Given the description of an element on the screen output the (x, y) to click on. 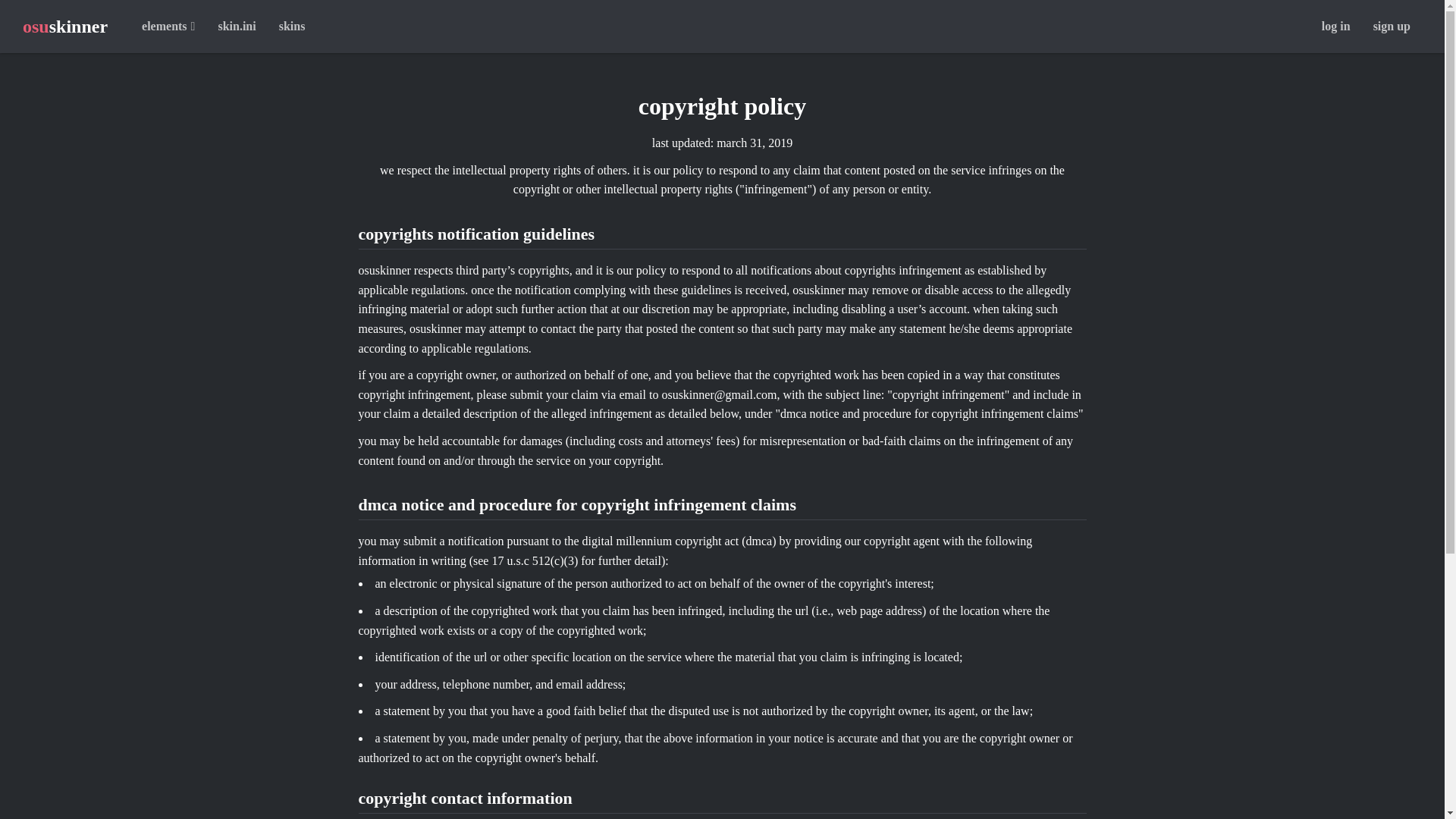
osuskinner (65, 26)
sign up (1391, 26)
skins (292, 26)
skin.ini (236, 26)
log in (1335, 26)
